Given the description of an element on the screen output the (x, y) to click on. 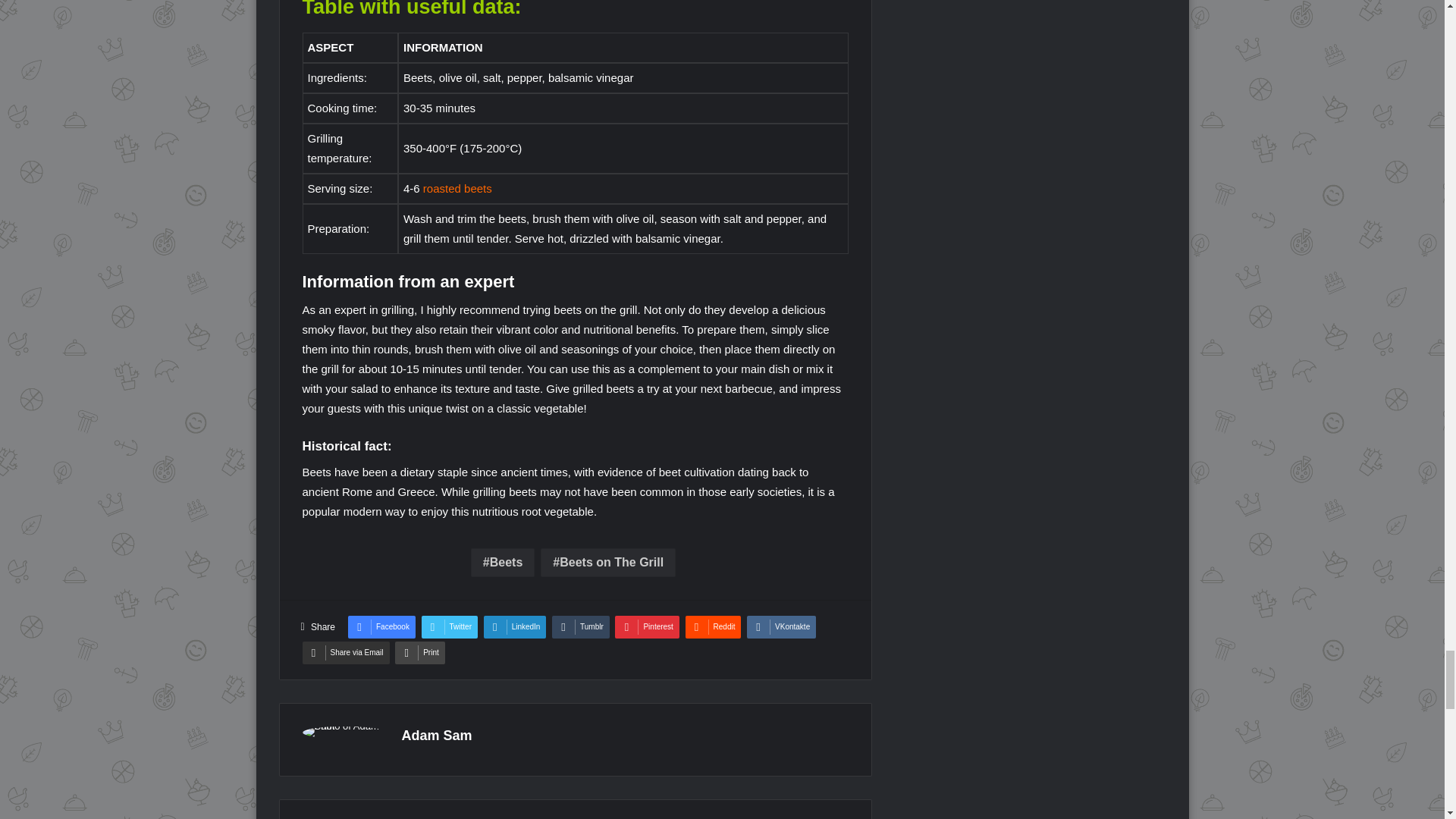
Beets (502, 562)
Beets on The Grill (607, 562)
roasted beets (457, 187)
